Given the description of an element on the screen output the (x, y) to click on. 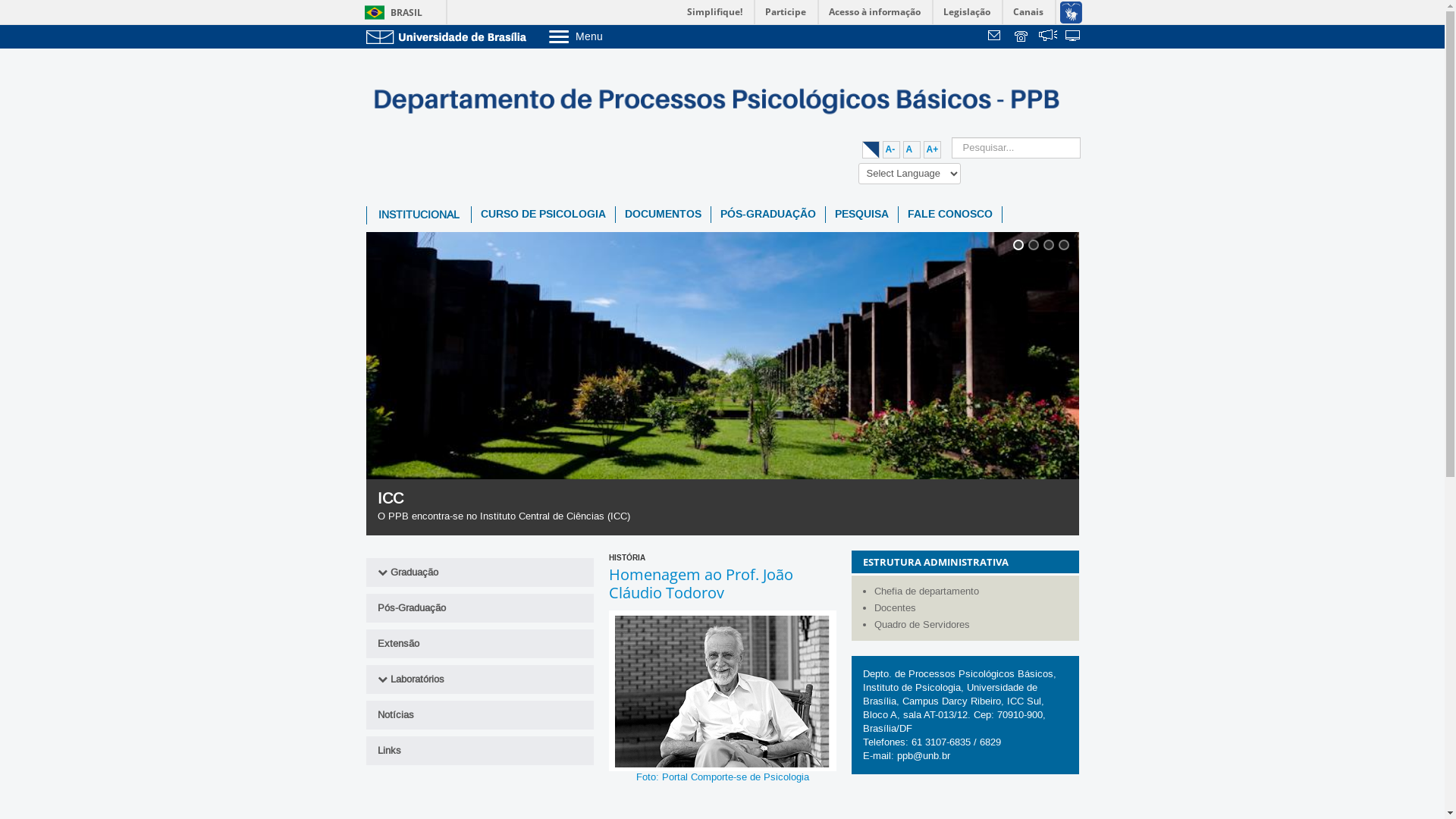
CURSO DE PSICOLOGIA Element type: text (543, 214)
 Foto: Portal Comporte-se de Psicologia Element type: hover (721, 689)
Menu Element type: text (613, 35)
A- Element type: text (891, 149)
ppb@unb.br Element type: text (922, 755)
Links Element type: text (479, 749)
  Element type: text (1073, 37)
  Element type: text (996, 37)
DOCUMENTOS Element type: text (662, 214)
PESQUISA Element type: text (861, 214)
Chefia de departamento Element type: text (971, 590)
  Element type: text (1022, 37)
Quadro de Servidores Element type: text (971, 623)
A Element type: text (910, 149)
Webmail Element type: hover (996, 37)
Ir para o Portal da UnB Element type: hover (448, 36)
Telefones da UnB Element type: hover (1022, 37)
A+ Element type: text (932, 149)
  Element type: text (1047, 37)
Fala.BR Element type: hover (1047, 37)
Sistemas Element type: hover (1073, 37)
FALE CONOSCO Element type: text (949, 214)
BRASIL Element type: text (389, 12)
Docentes Element type: text (971, 607)
